Given the description of an element on the screen output the (x, y) to click on. 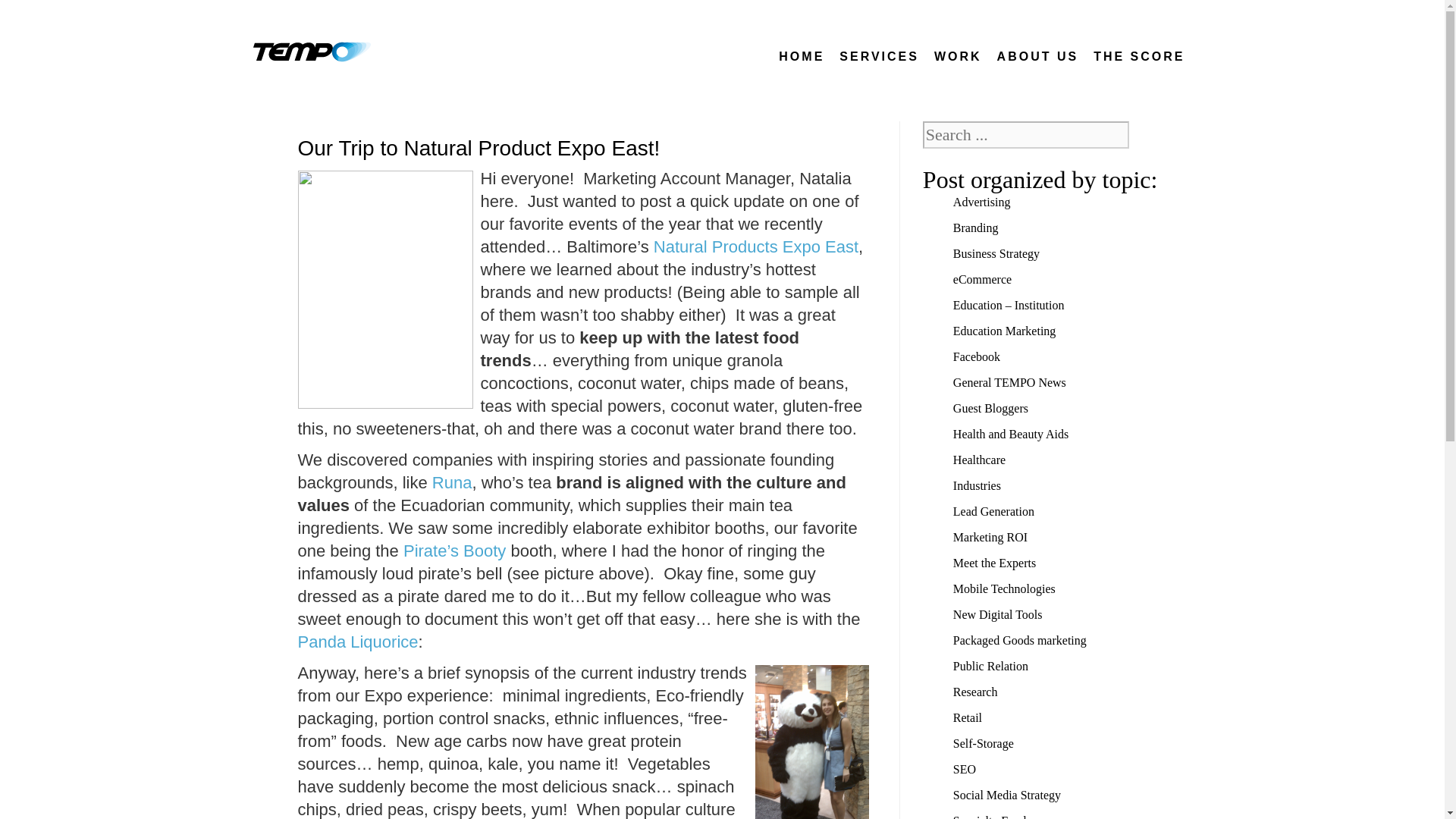
Natural Products Expo East (756, 246)
eCommerce (1072, 279)
Guest Bloggers (1072, 408)
Panda Liquorice (357, 641)
Branding (1072, 228)
Marketing ROI (1072, 537)
Meet the Experts (1072, 563)
Research (1072, 692)
Healthcare (1072, 460)
Industries (1072, 485)
